Given the description of an element on the screen output the (x, y) to click on. 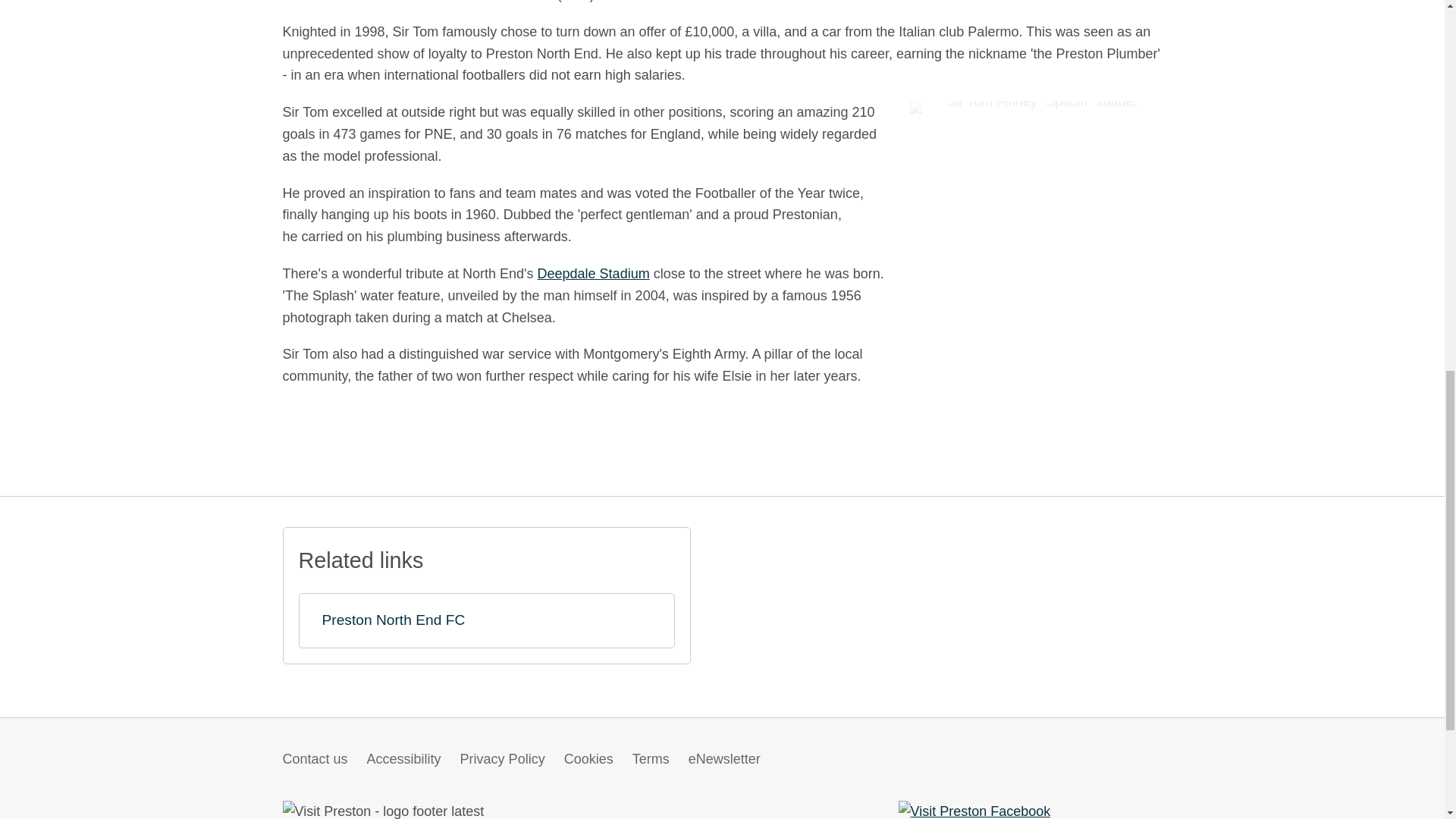
Visit Preston Facebook : opens on new browser window or tab (973, 811)
Cookies (588, 758)
Privacy Policy (502, 758)
Preston North End FC (486, 620)
Terms (650, 758)
Accessibility (403, 758)
Deepdale Stadium (593, 273)
Contact us (314, 758)
eNewsletter (724, 758)
